Given the description of an element on the screen output the (x, y) to click on. 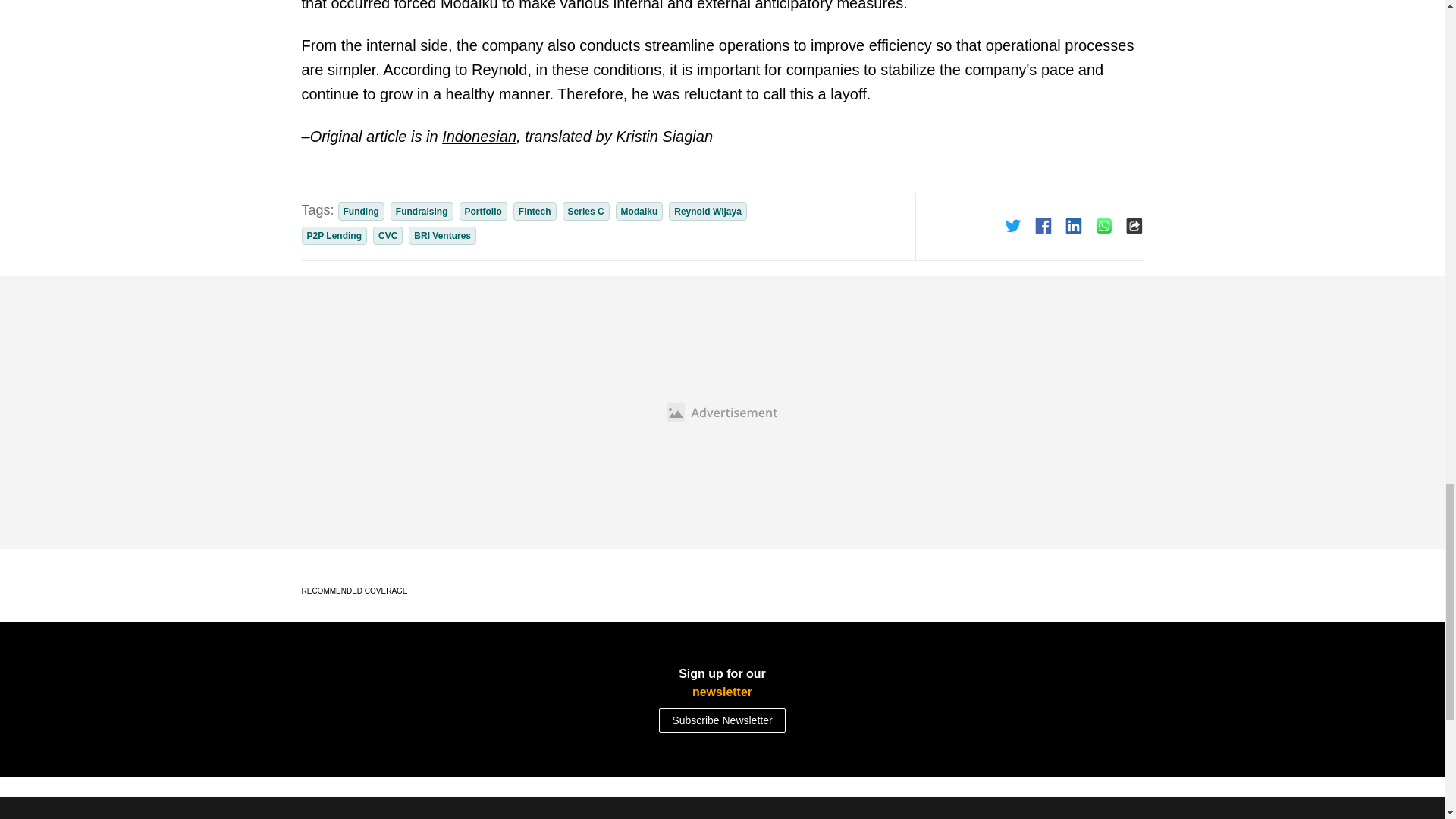
Share this article (1073, 226)
Share this article (1103, 226)
Share this article (1042, 226)
Share this article (1013, 226)
